Given the description of an element on the screen output the (x, y) to click on. 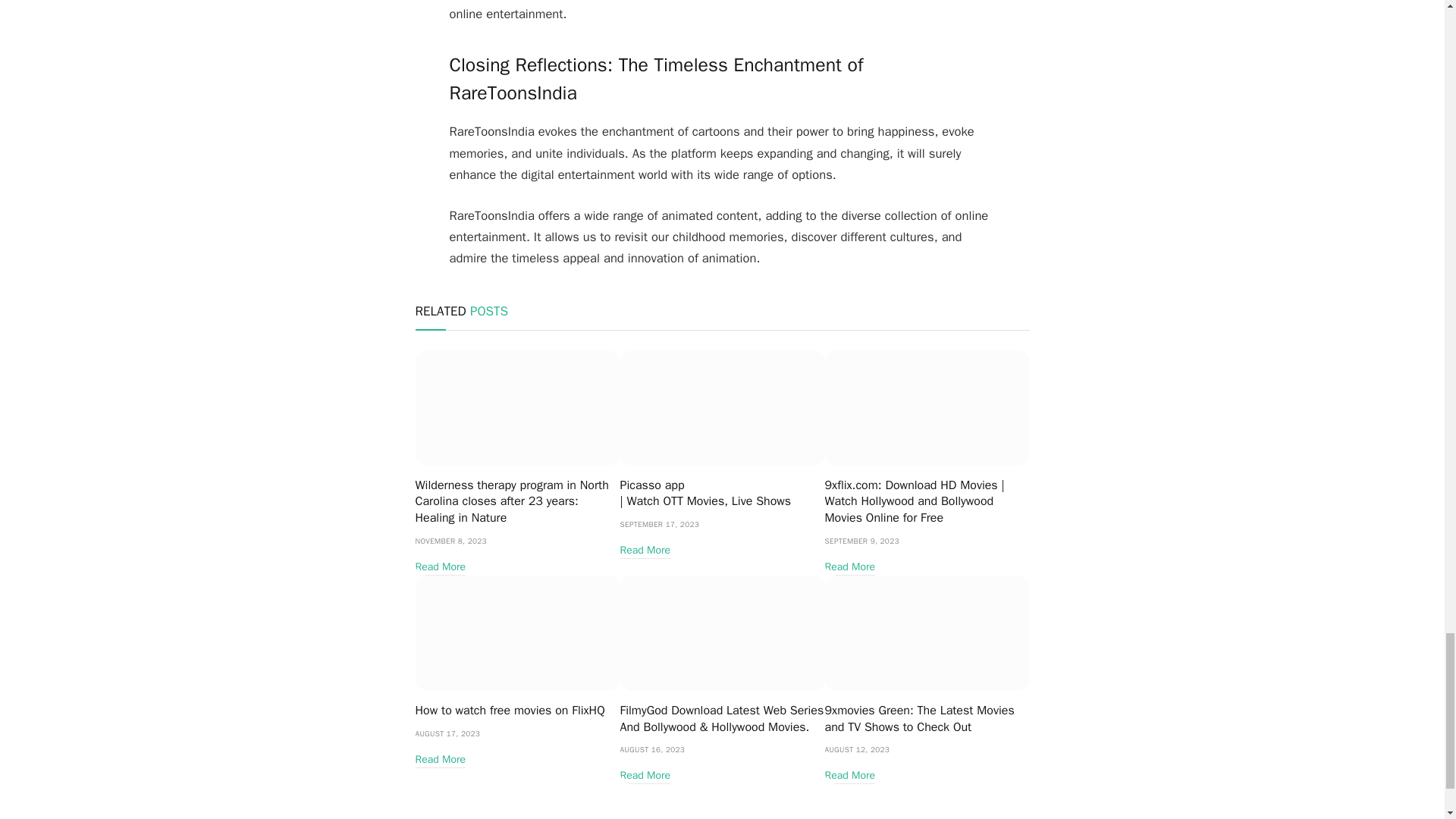
Read More (439, 566)
